Given the description of an element on the screen output the (x, y) to click on. 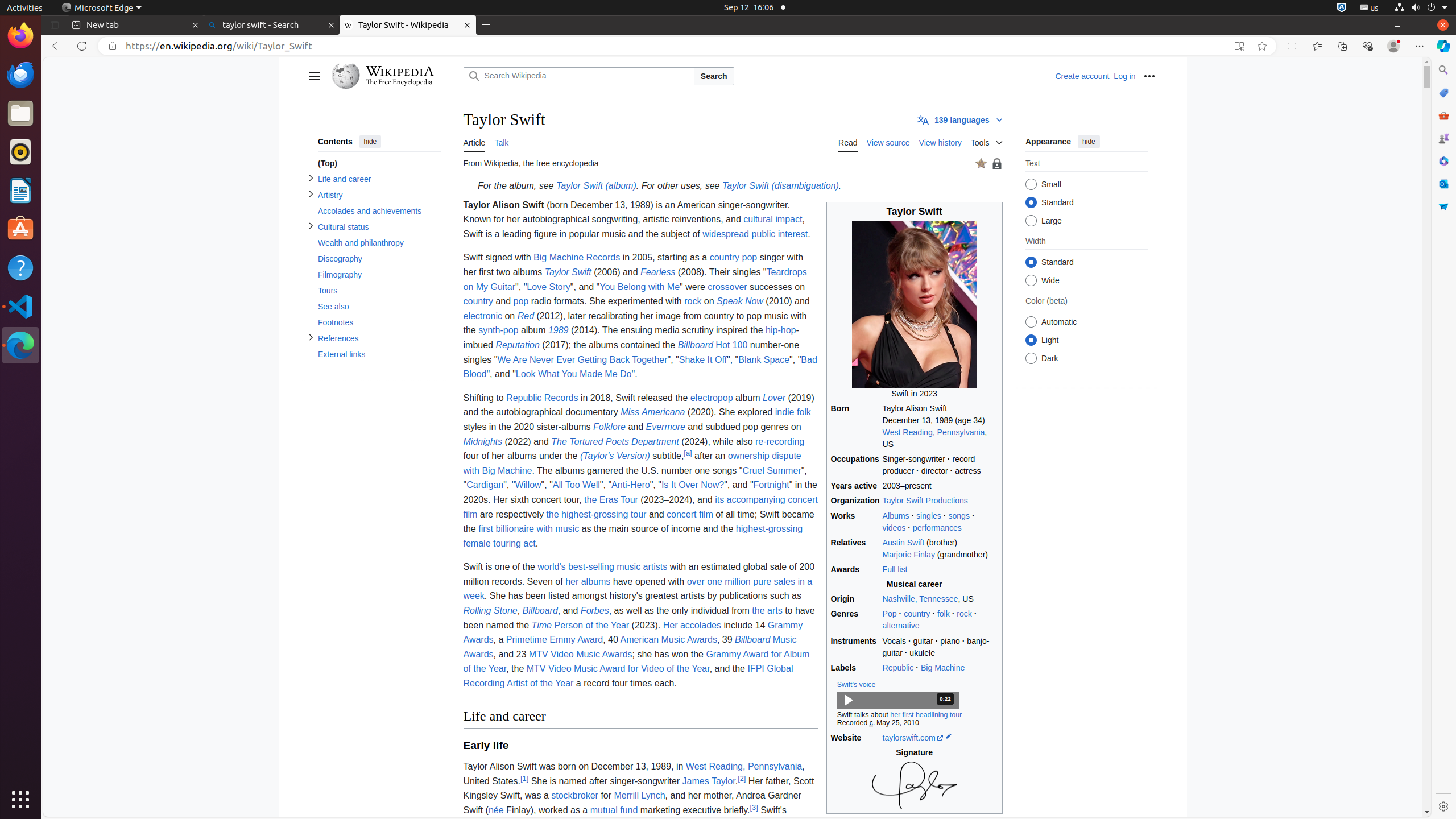
Article Element type: link (473, 141)
Taylor Swift (disambiguation) Element type: link (779, 185)
:1.72/StatusNotifierItem Element type: menu (1341, 7)
indie folk Element type: link (792, 412)
Red Element type: link (525, 315)
